Given the description of an element on the screen output the (x, y) to click on. 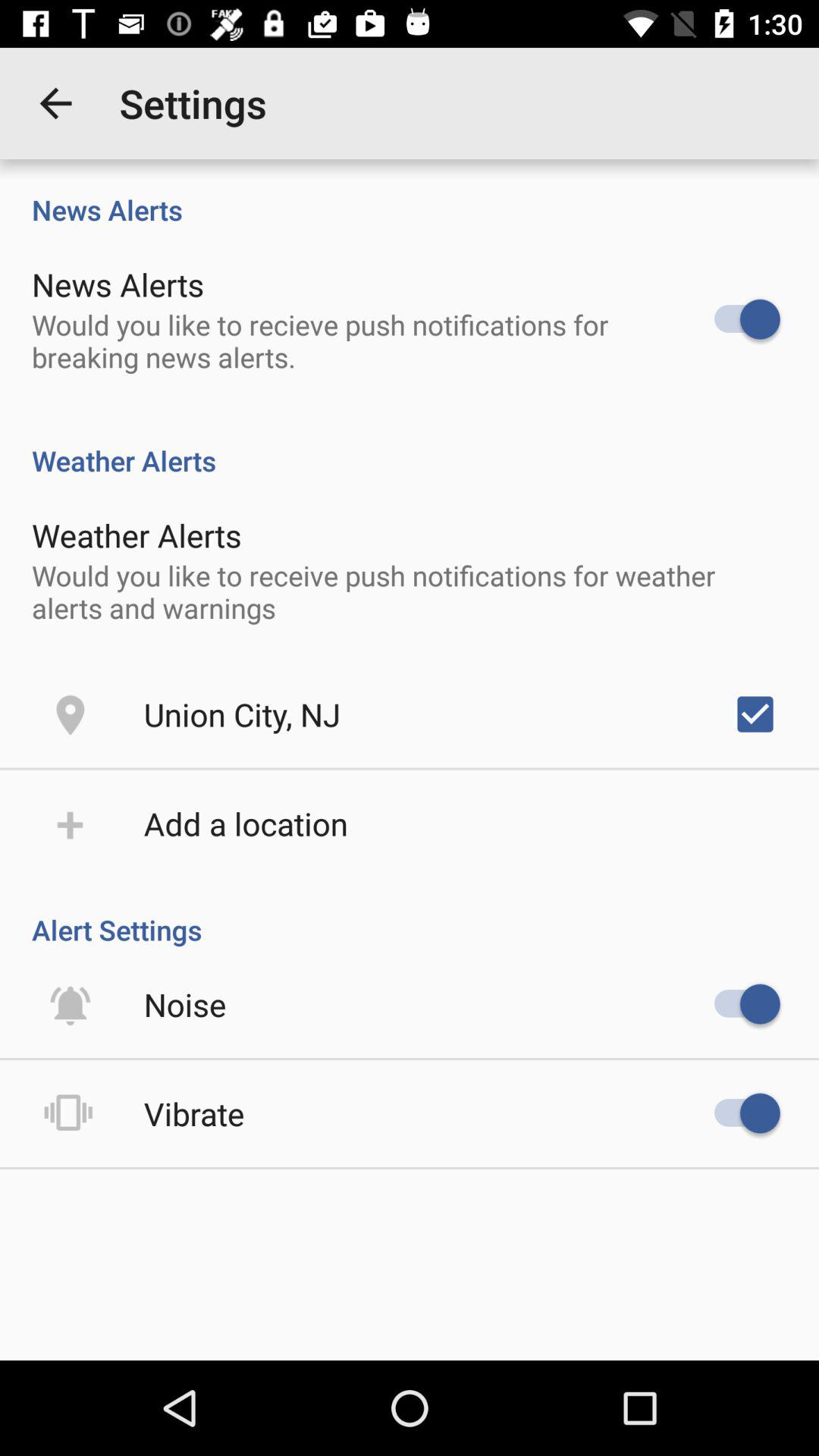
press item above the alert settings (245, 823)
